Given the description of an element on the screen output the (x, y) to click on. 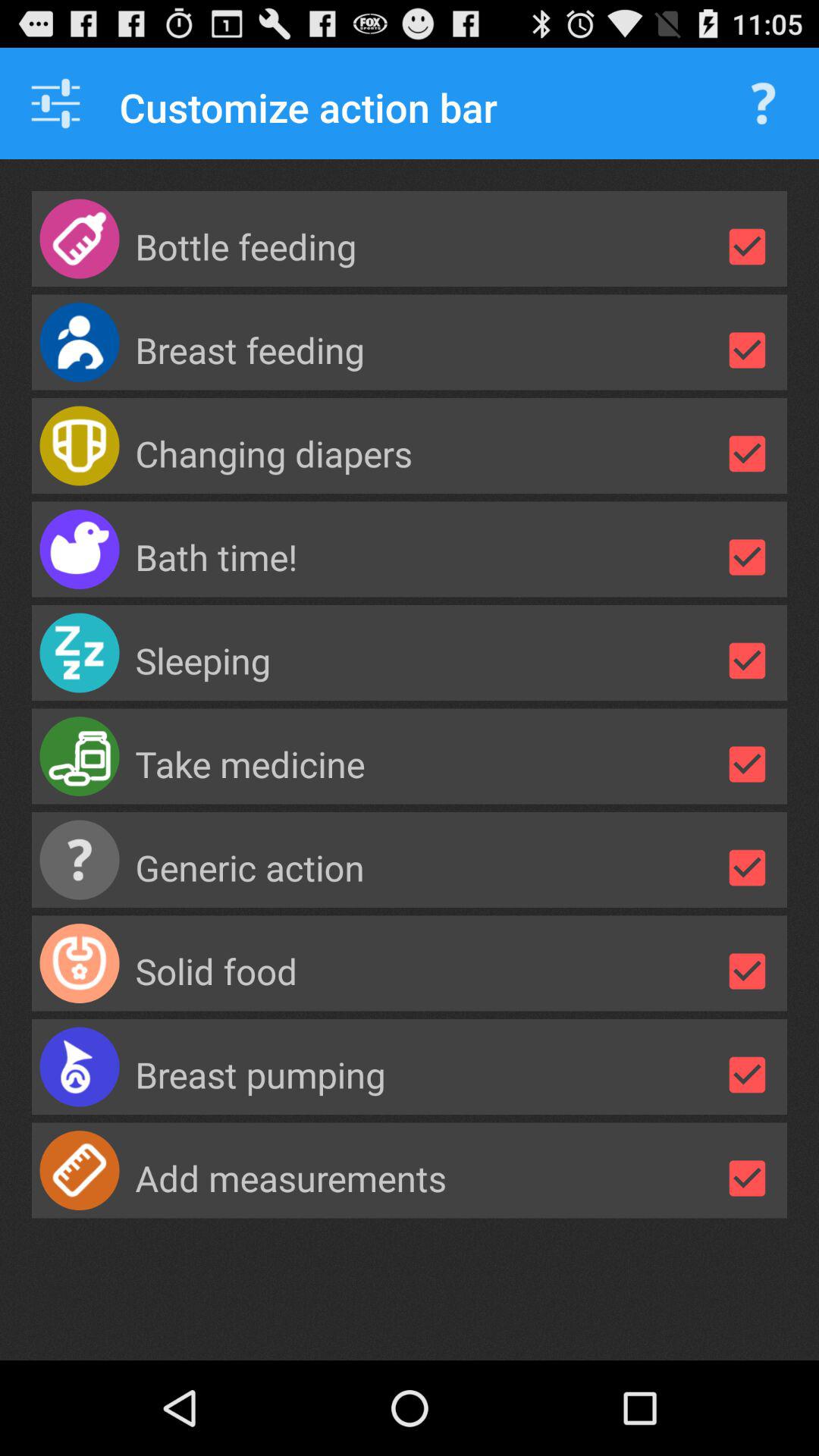
question mark (763, 103)
